Given the description of an element on the screen output the (x, y) to click on. 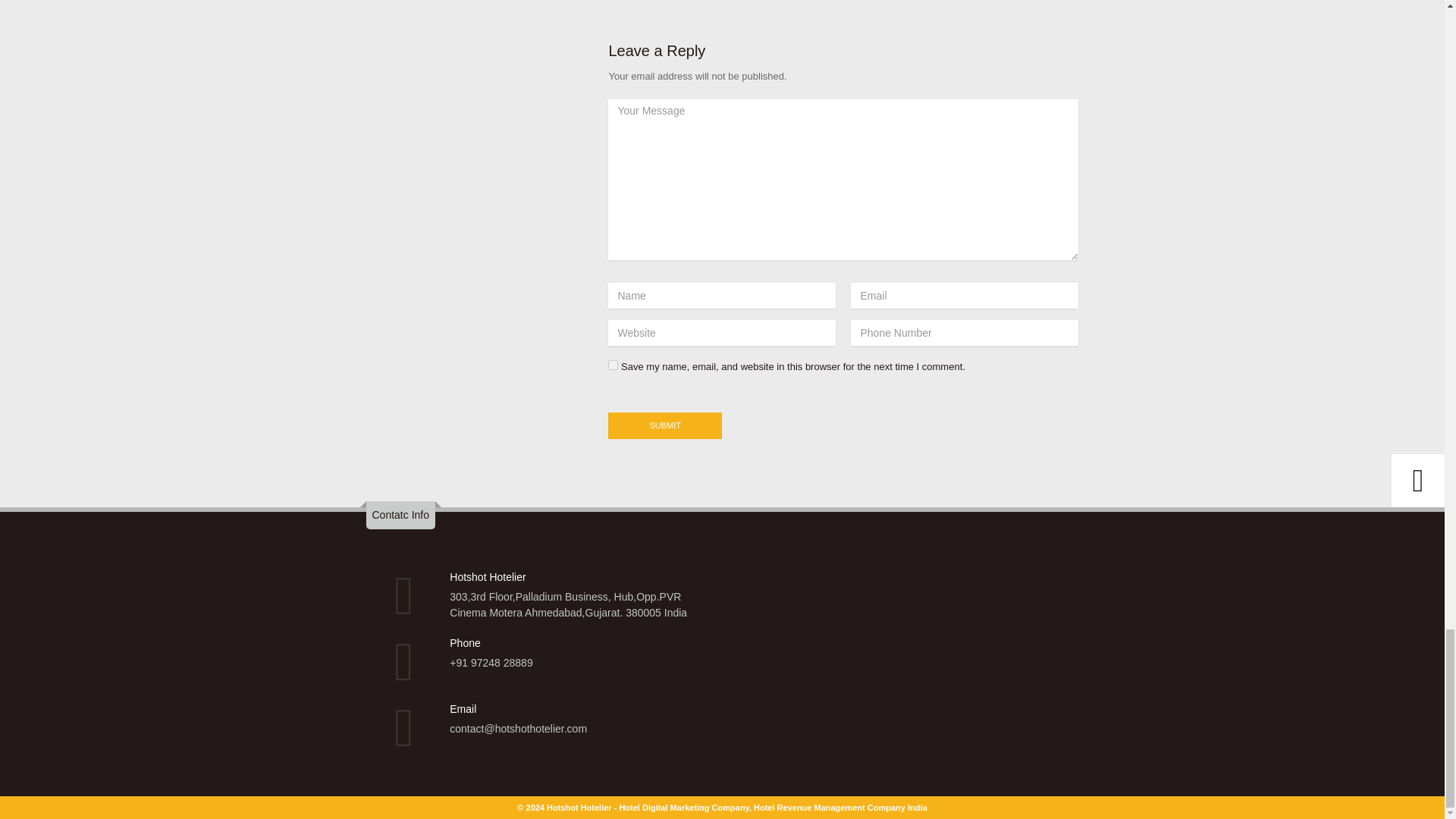
yes (612, 365)
Submit (665, 425)
